Given the description of an element on the screen output the (x, y) to click on. 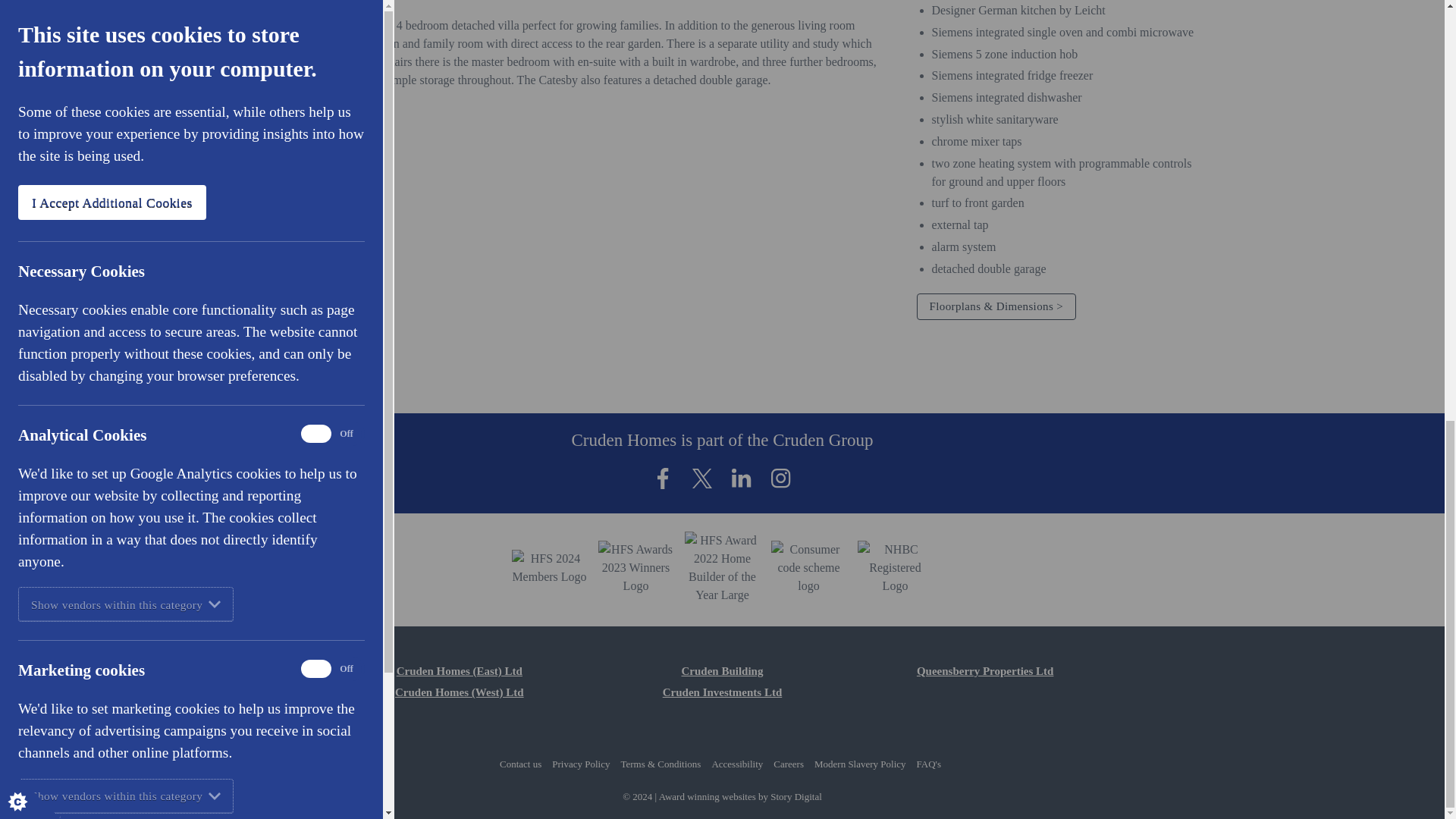
Cruden Building (722, 671)
Award winning websites by Story Digital (796, 796)
Facebook (662, 478)
Linkedin (741, 478)
Contact us (520, 763)
Accessibility (736, 763)
Cruden Investments Ltd (722, 692)
Instagram (780, 478)
Careers (788, 763)
FAQ's (928, 763)
